Given the description of an element on the screen output the (x, y) to click on. 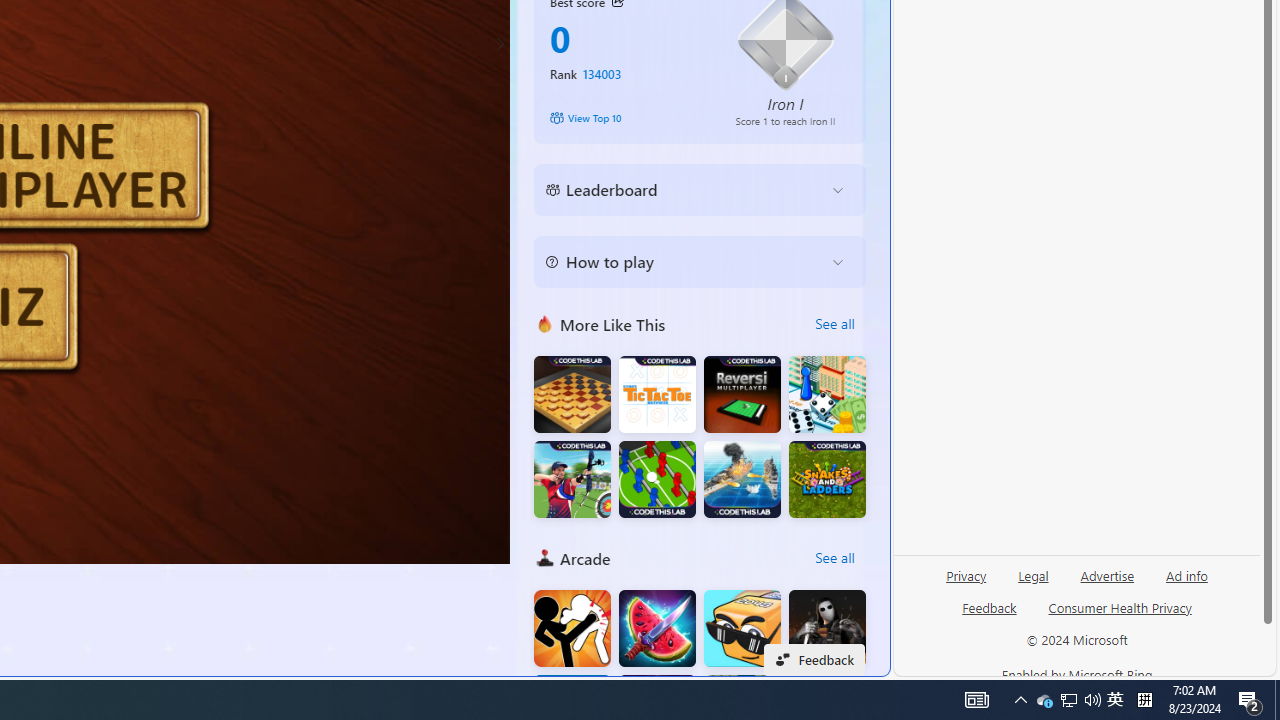
Snakes and Ladders (827, 479)
Leaderboard (683, 189)
How to play (683, 261)
Archery King (571, 479)
View Top 10 (628, 118)
Master Checkers Multiplayer (571, 394)
See all (834, 557)
Cubes2048 (742, 628)
Consumer Health Privacy (1119, 607)
Fruit Chopper (657, 628)
